Given the description of an element on the screen output the (x, y) to click on. 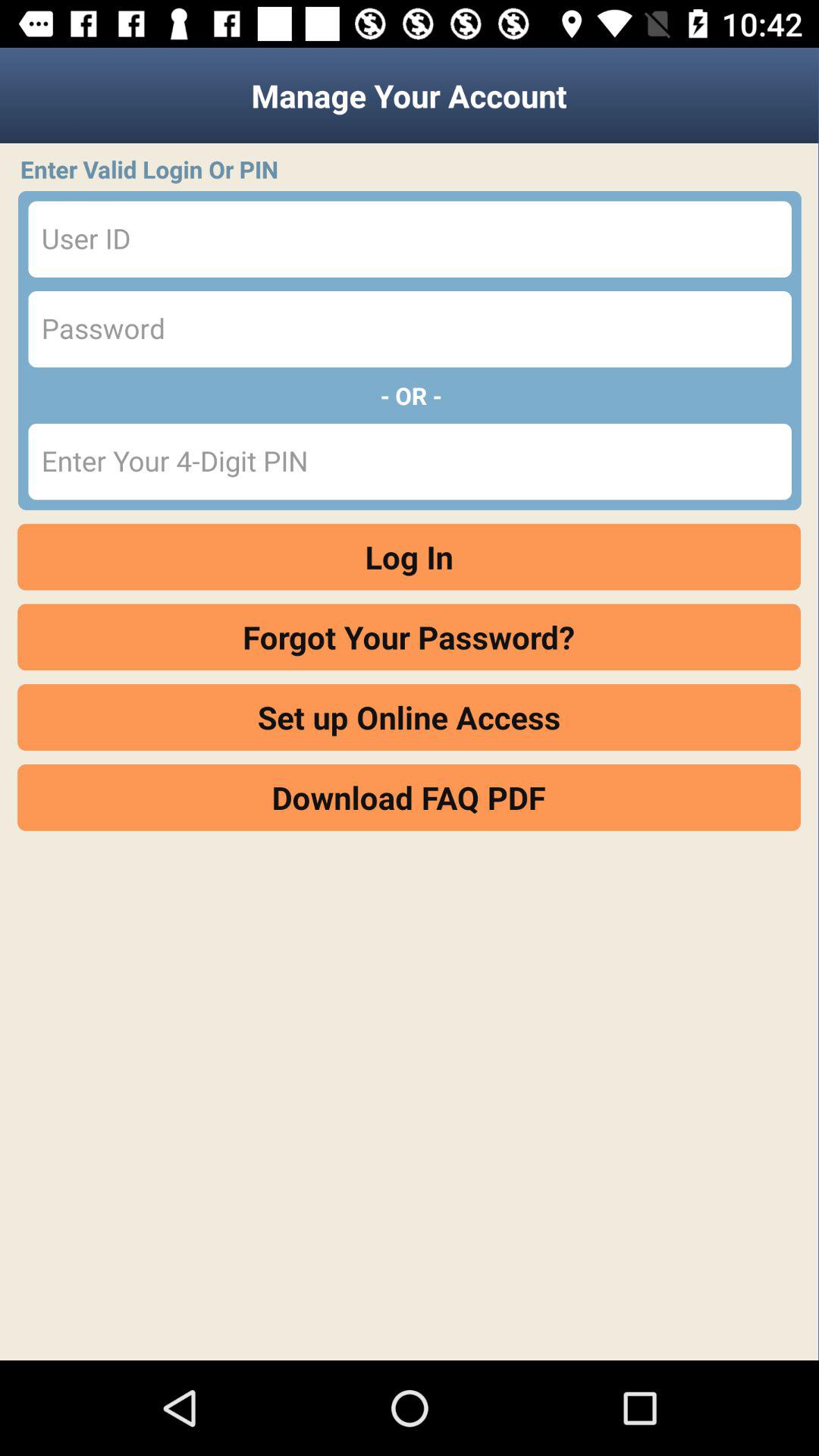
type password (409, 329)
